Given the description of an element on the screen output the (x, y) to click on. 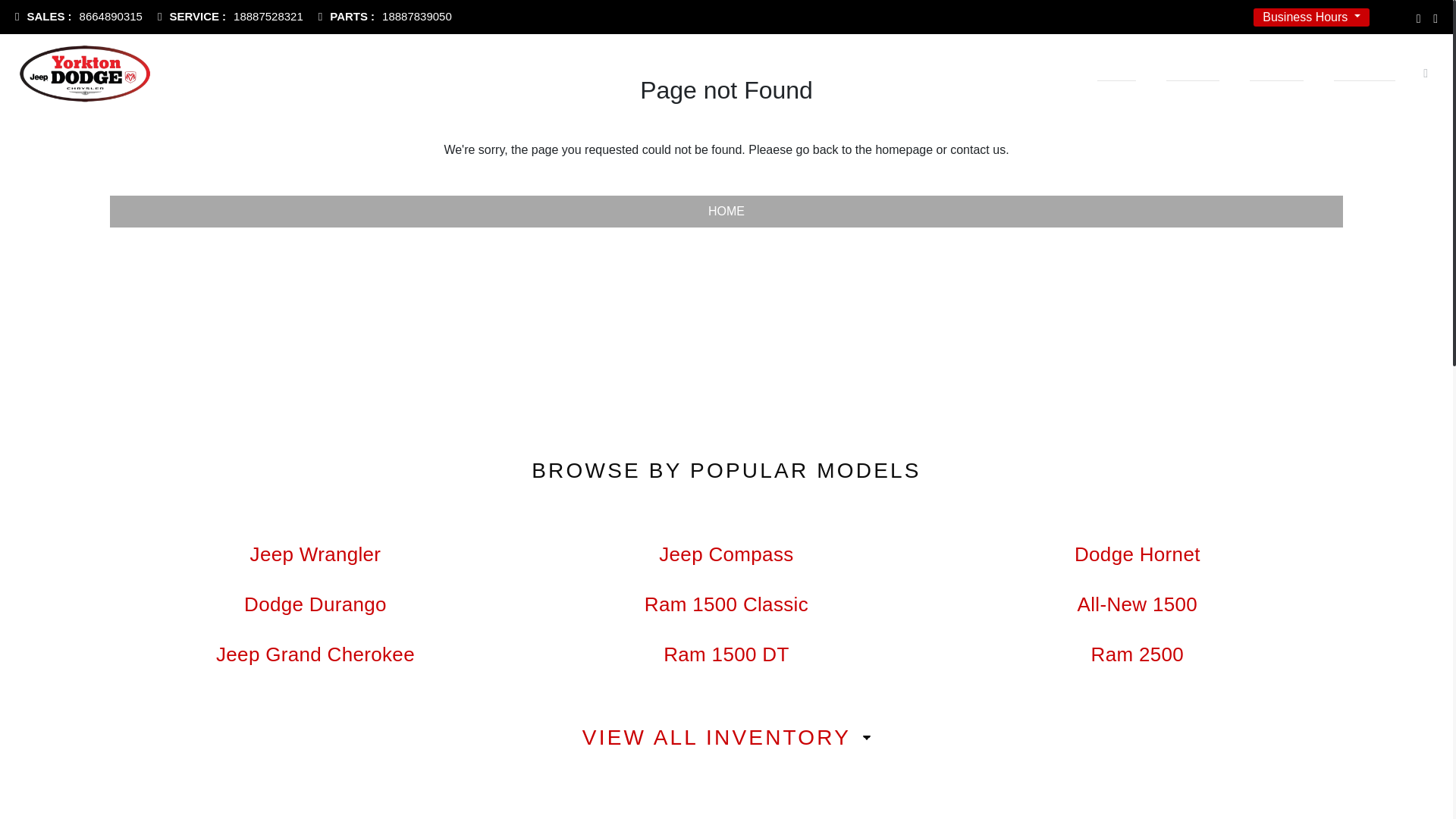
Business Hours (384, 16)
